Given the description of an element on the screen output the (x, y) to click on. 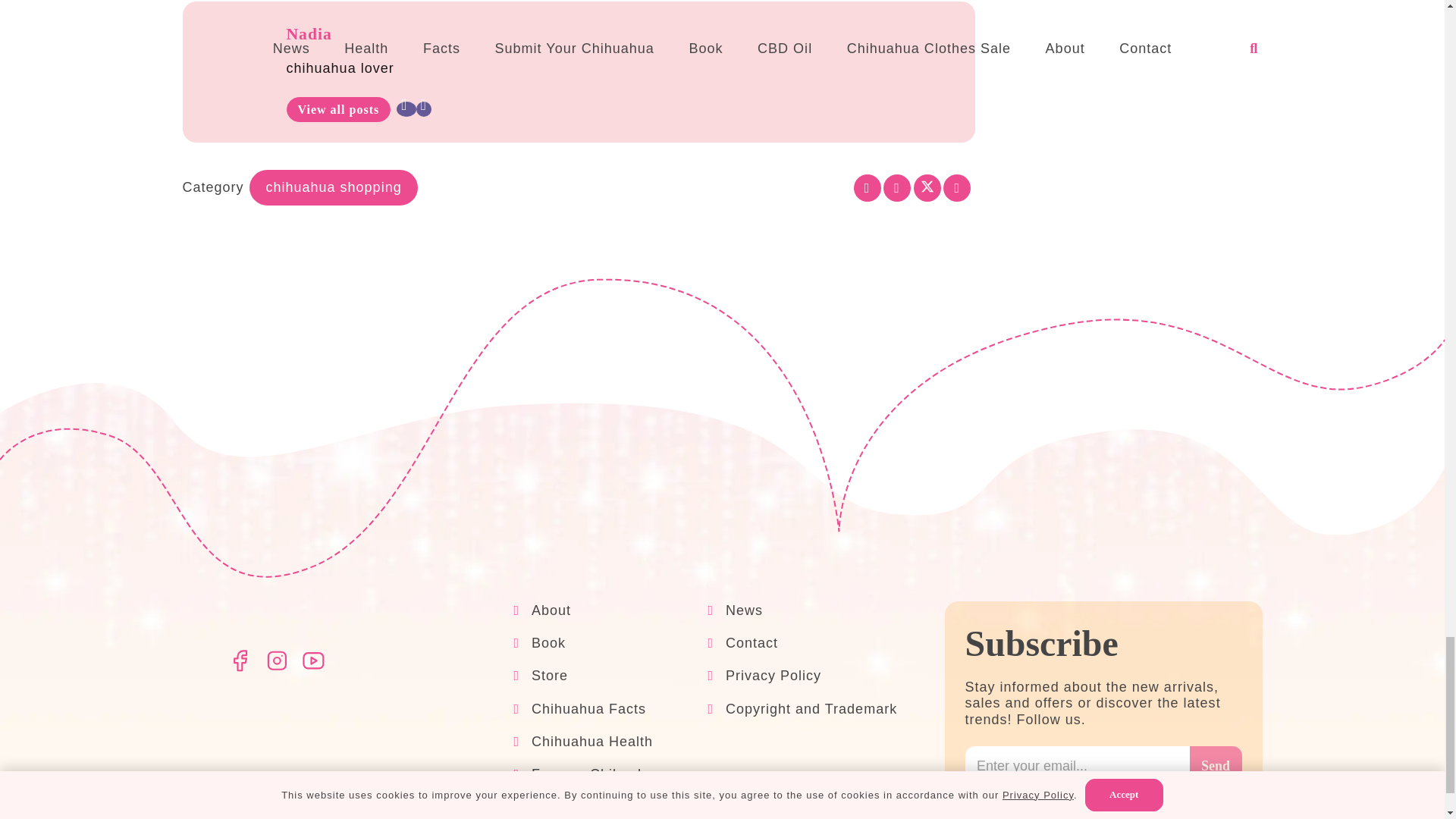
Send (1215, 766)
chihuahua shopping (332, 187)
Nadia (308, 34)
Nadia (308, 34)
View all posts (338, 109)
